Given the description of an element on the screen output the (x, y) to click on. 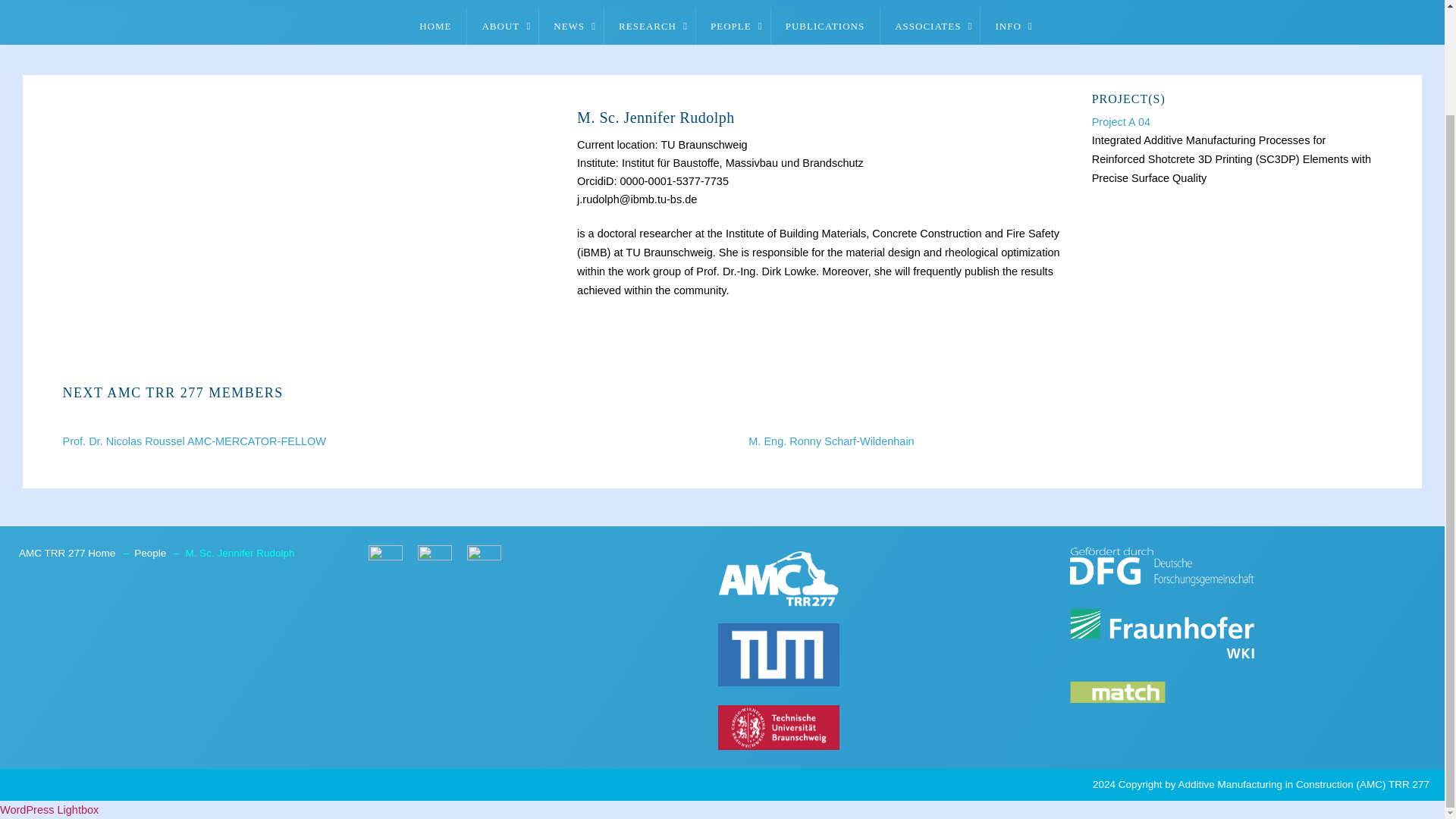
Go to People. (153, 552)
RESEARCH (649, 26)
ABOUT (501, 26)
WordPress Lightbox (49, 809)
HOME (434, 26)
